Given the description of an element on the screen output the (x, y) to click on. 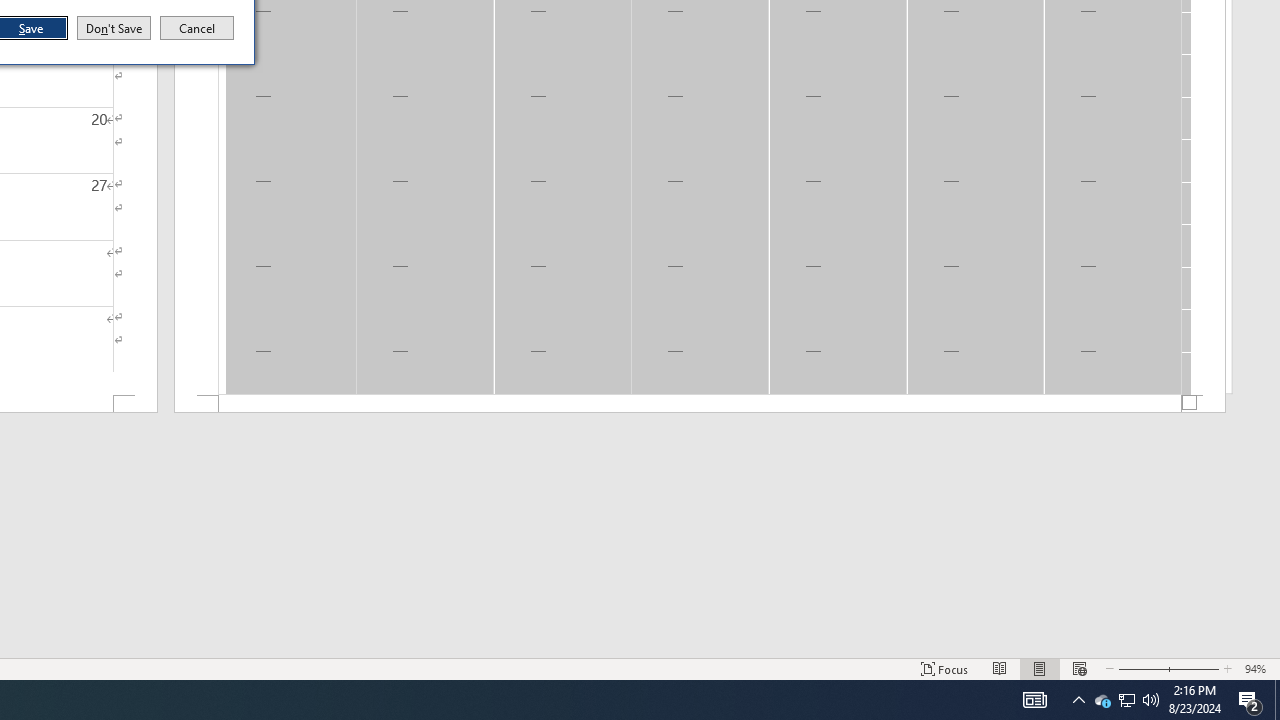
Don't Save (113, 27)
